Given the description of an element on the screen output the (x, y) to click on. 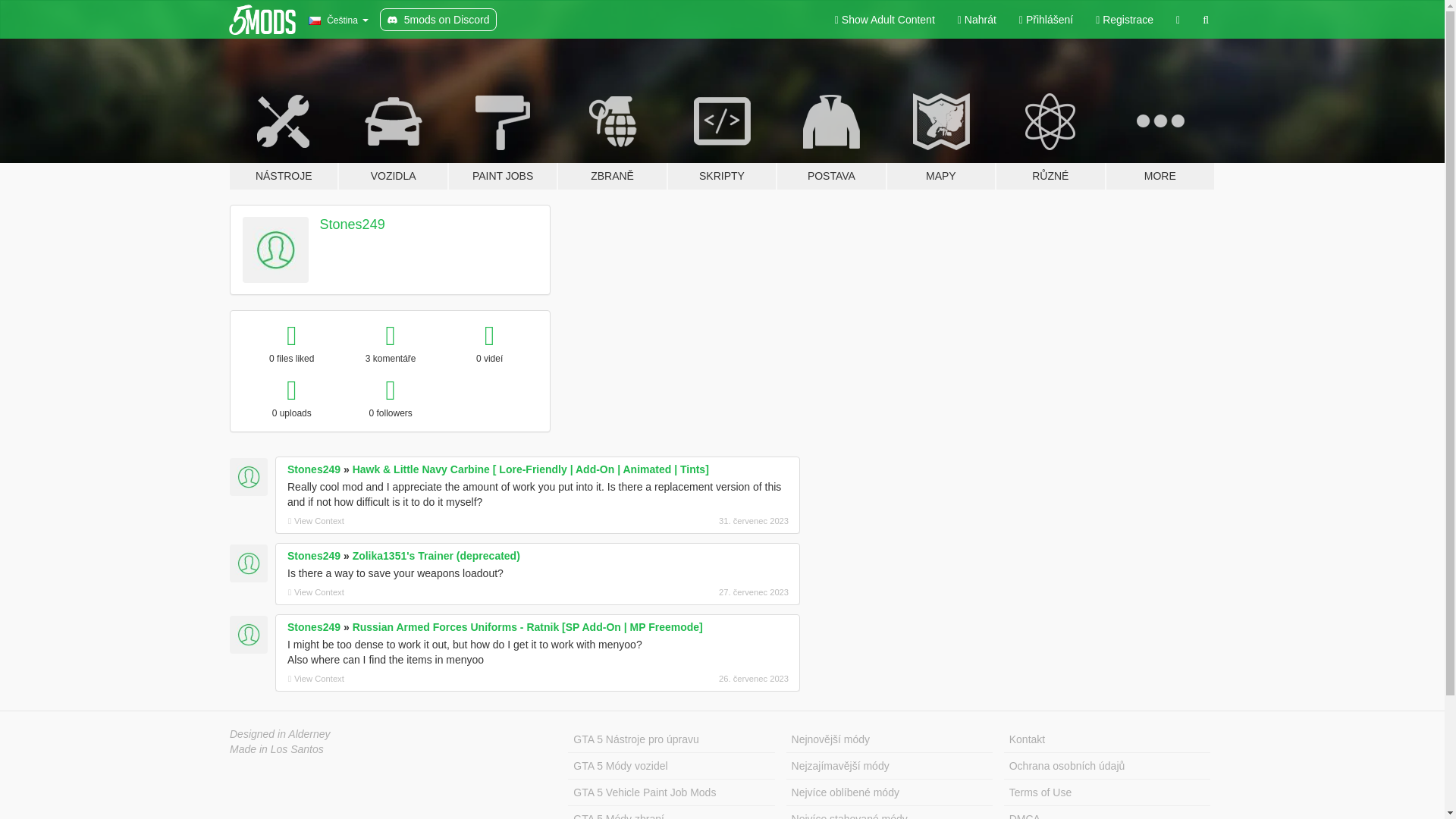
5mods on Discord (438, 19)
Light mode (885, 19)
Show Adult Content (885, 19)
Registrace (1124, 19)
